Given the description of an element on the screen output the (x, y) to click on. 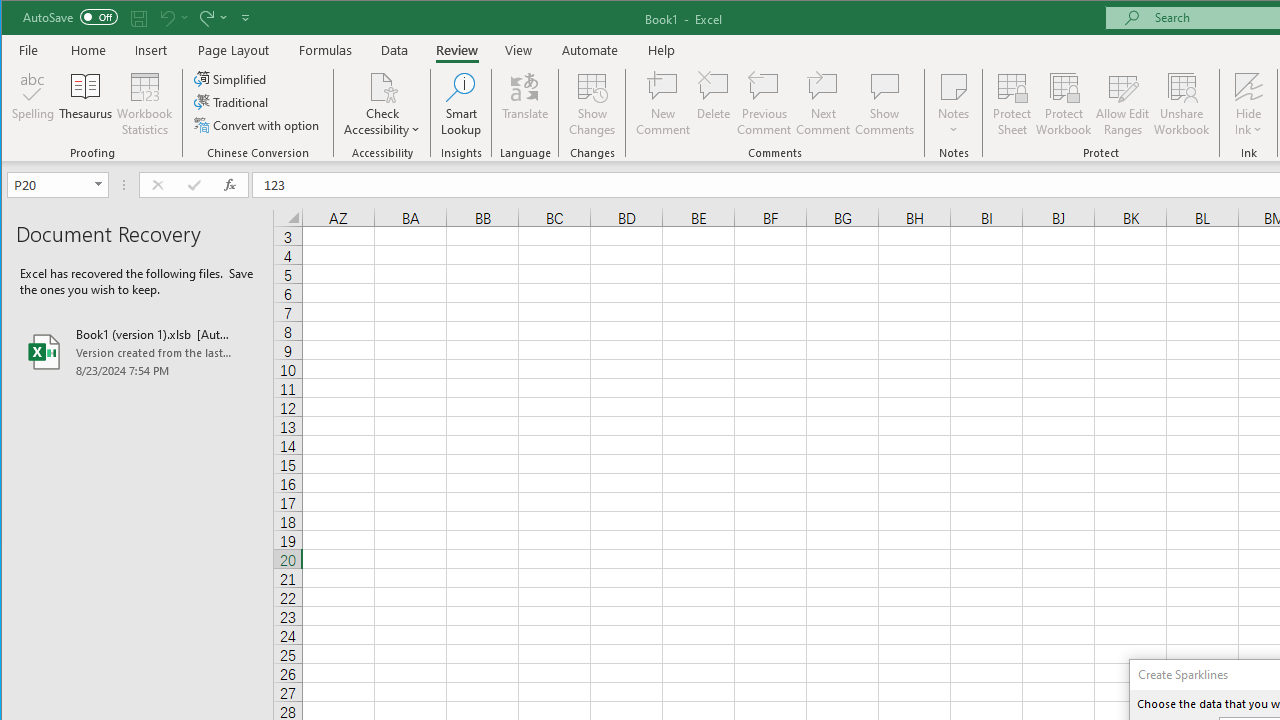
Convert with option (258, 124)
Previous Comment (763, 104)
Translate (525, 104)
Unshare Workbook (1182, 104)
Hide Ink (1248, 86)
Simplified (231, 78)
Allow Edit Ranges (1123, 104)
